Given the description of an element on the screen output the (x, y) to click on. 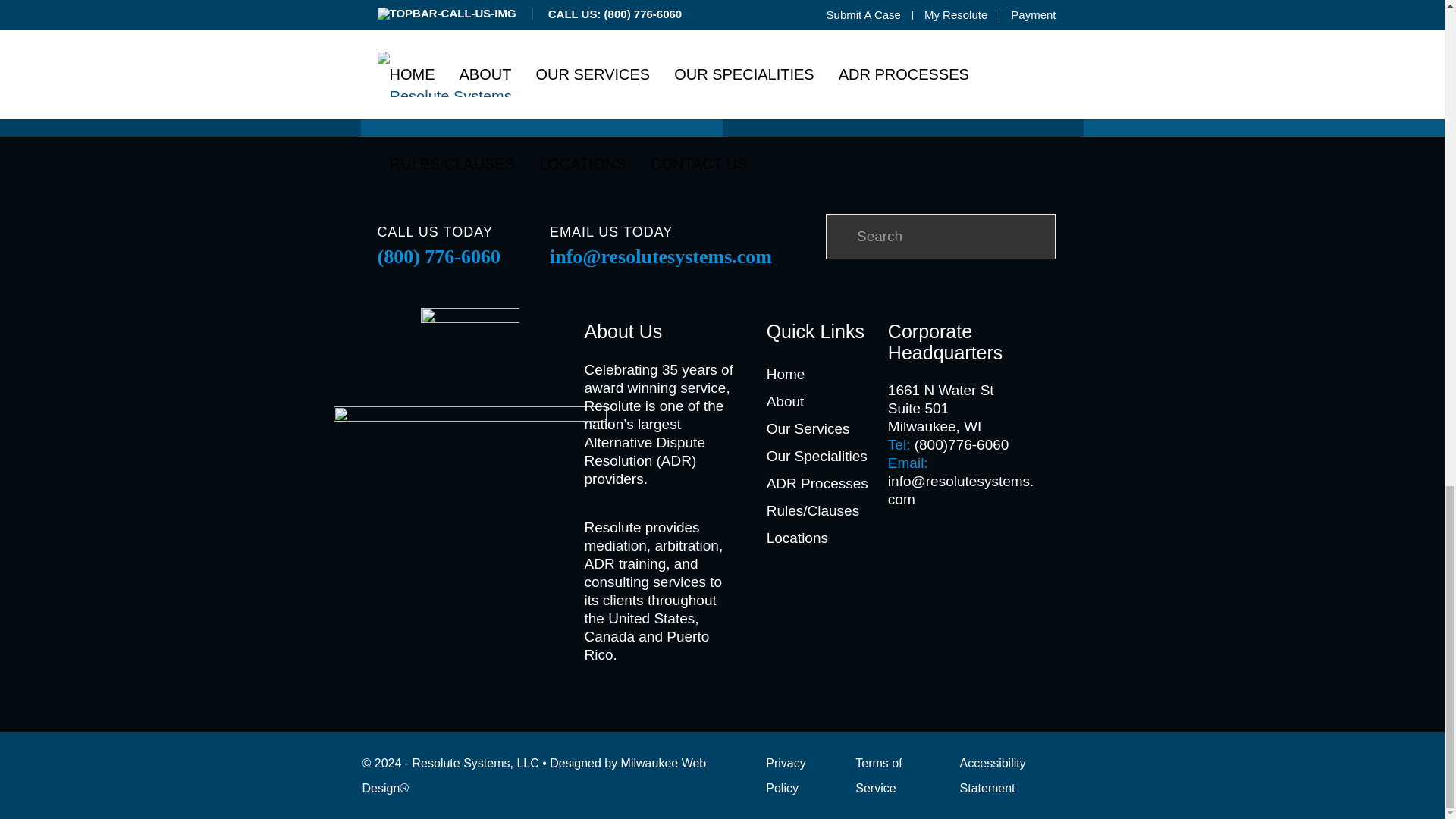
rules-cluases (902, 13)
get-in-touch (1263, 13)
Milwaukee Web Design, LLC (534, 775)
our-locations (541, 13)
submit-a-case (180, 13)
